Given the description of an element on the screen output the (x, y) to click on. 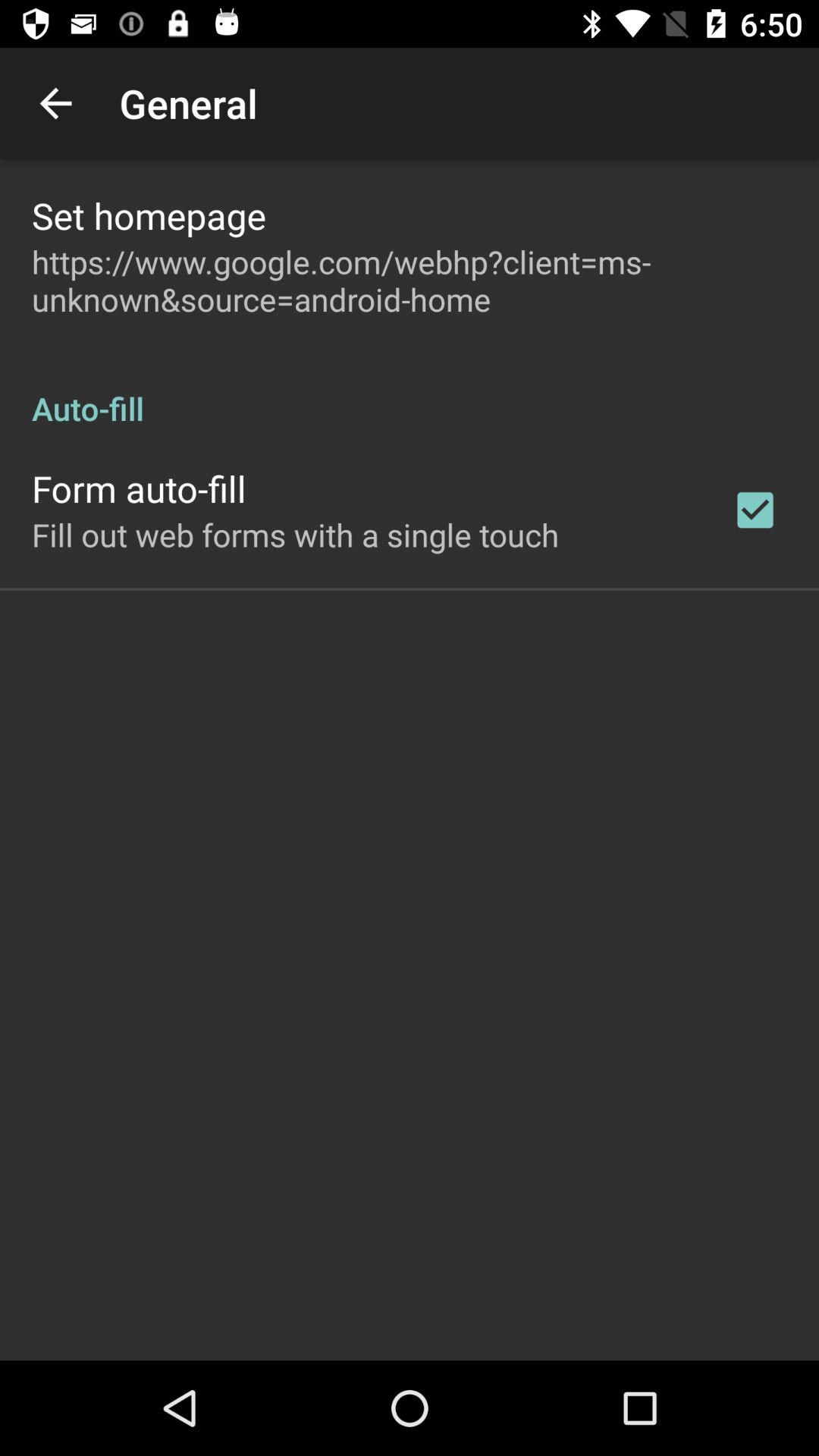
choose app next to the general (55, 103)
